Given the description of an element on the screen output the (x, y) to click on. 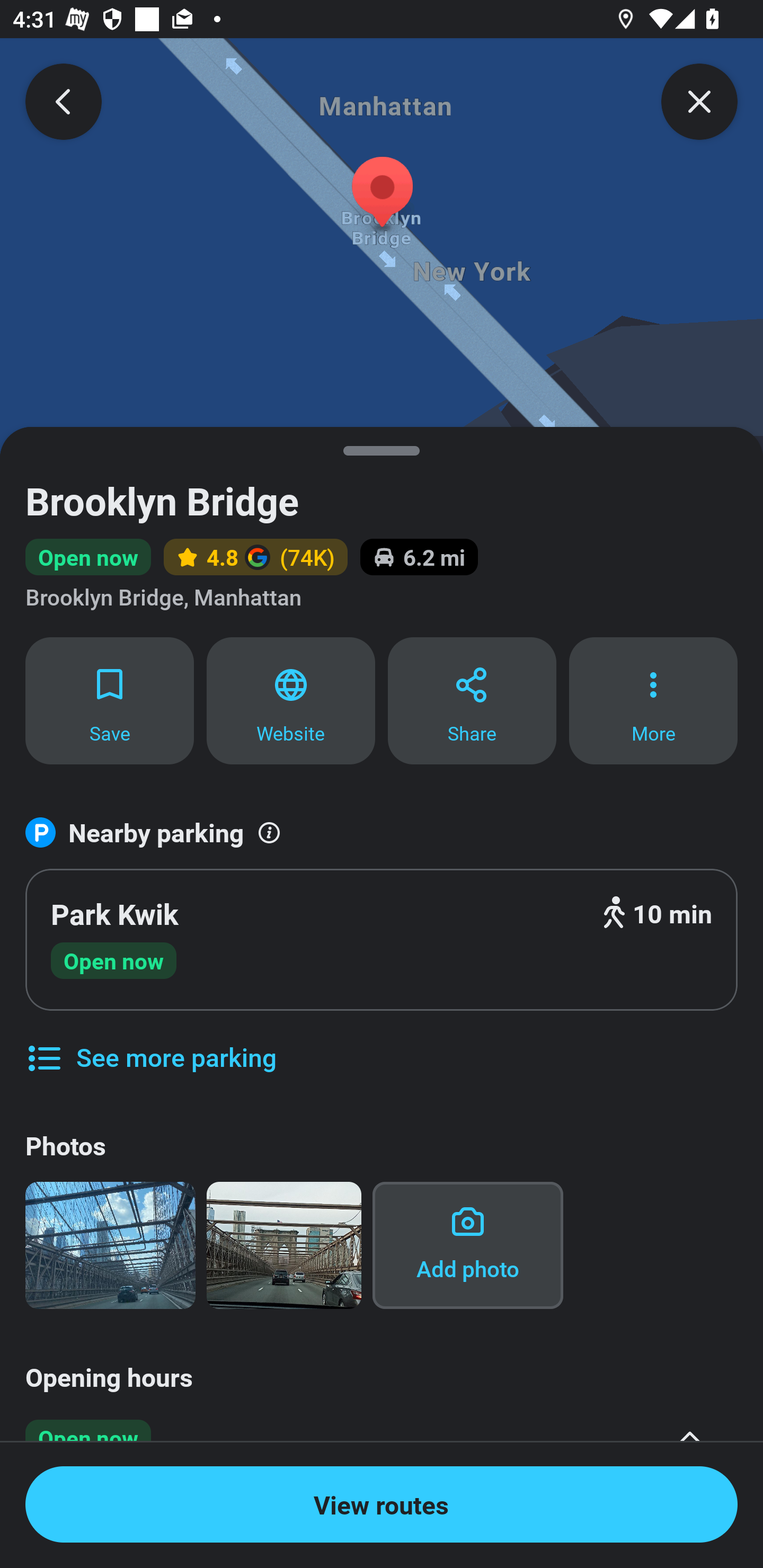
Save (109, 700)
Website (290, 700)
Share (471, 700)
More (653, 700)
Park Kwik 10 min Open now (381, 939)
See more parking (150, 1043)
Add photo (467, 1245)
View routes (381, 1504)
